Given the description of an element on the screen output the (x, y) to click on. 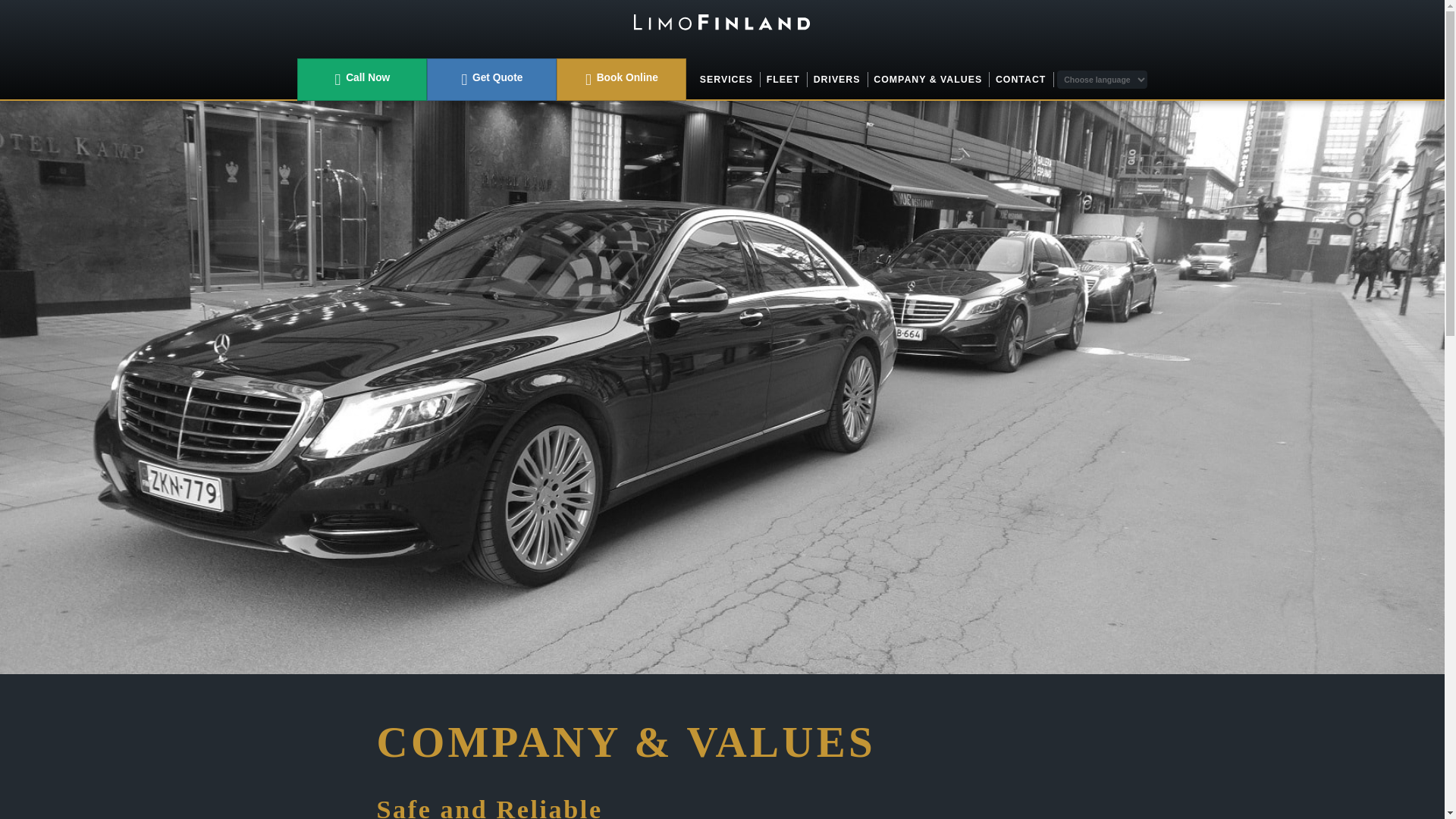
SERVICES (726, 79)
Book Online (620, 79)
Get Quote (491, 79)
Call Now (361, 79)
DRIVERS (836, 79)
FLEET (783, 79)
CONTACT (1020, 79)
